Given the description of an element on the screen output the (x, y) to click on. 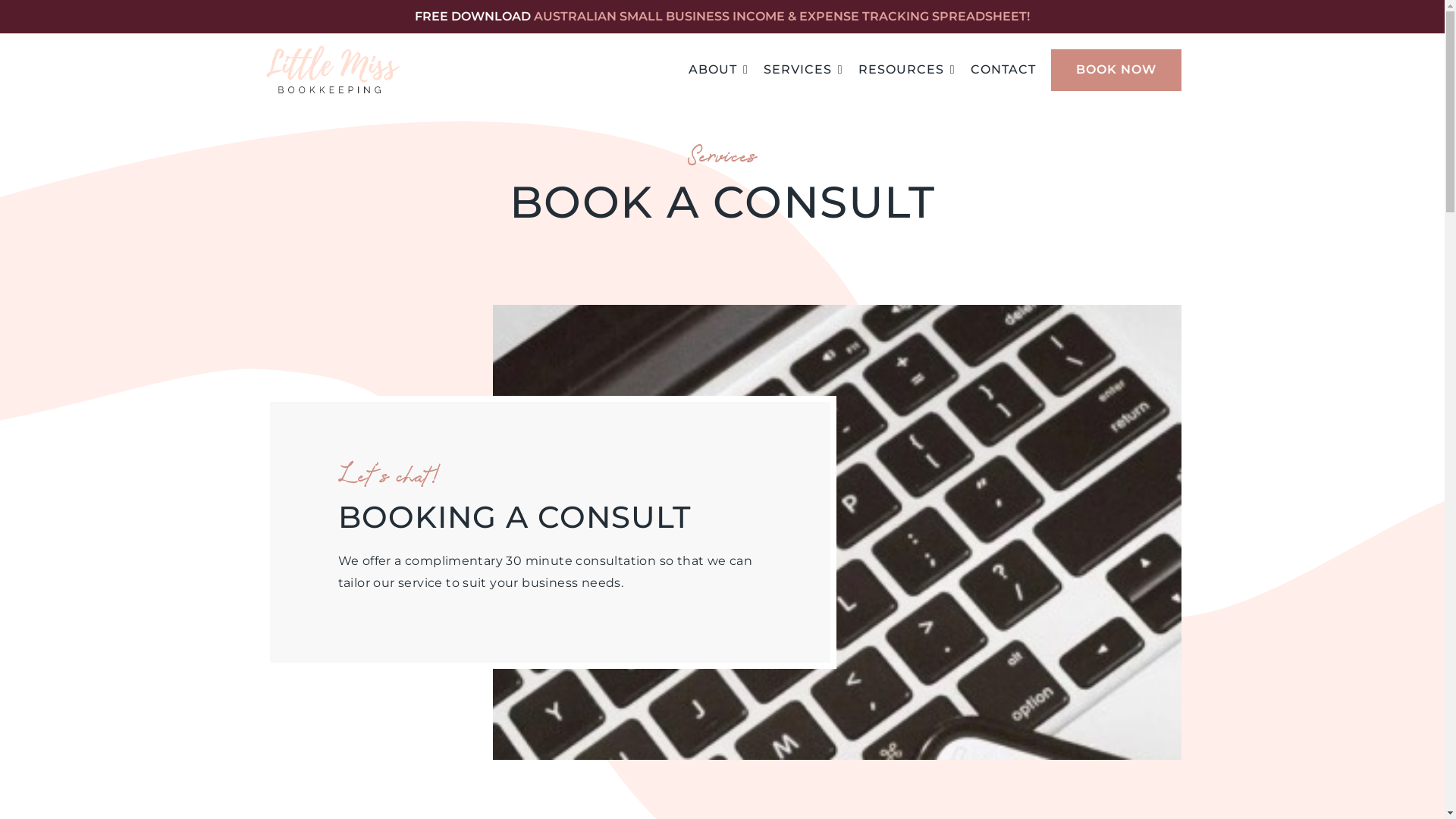
BOOK NOW Element type: text (1116, 70)
SERVICES Element type: text (803, 69)
CONTACT Element type: text (1003, 69)
ABOUT Element type: text (718, 69)
RESOURCES Element type: text (906, 69)
